Given the description of an element on the screen output the (x, y) to click on. 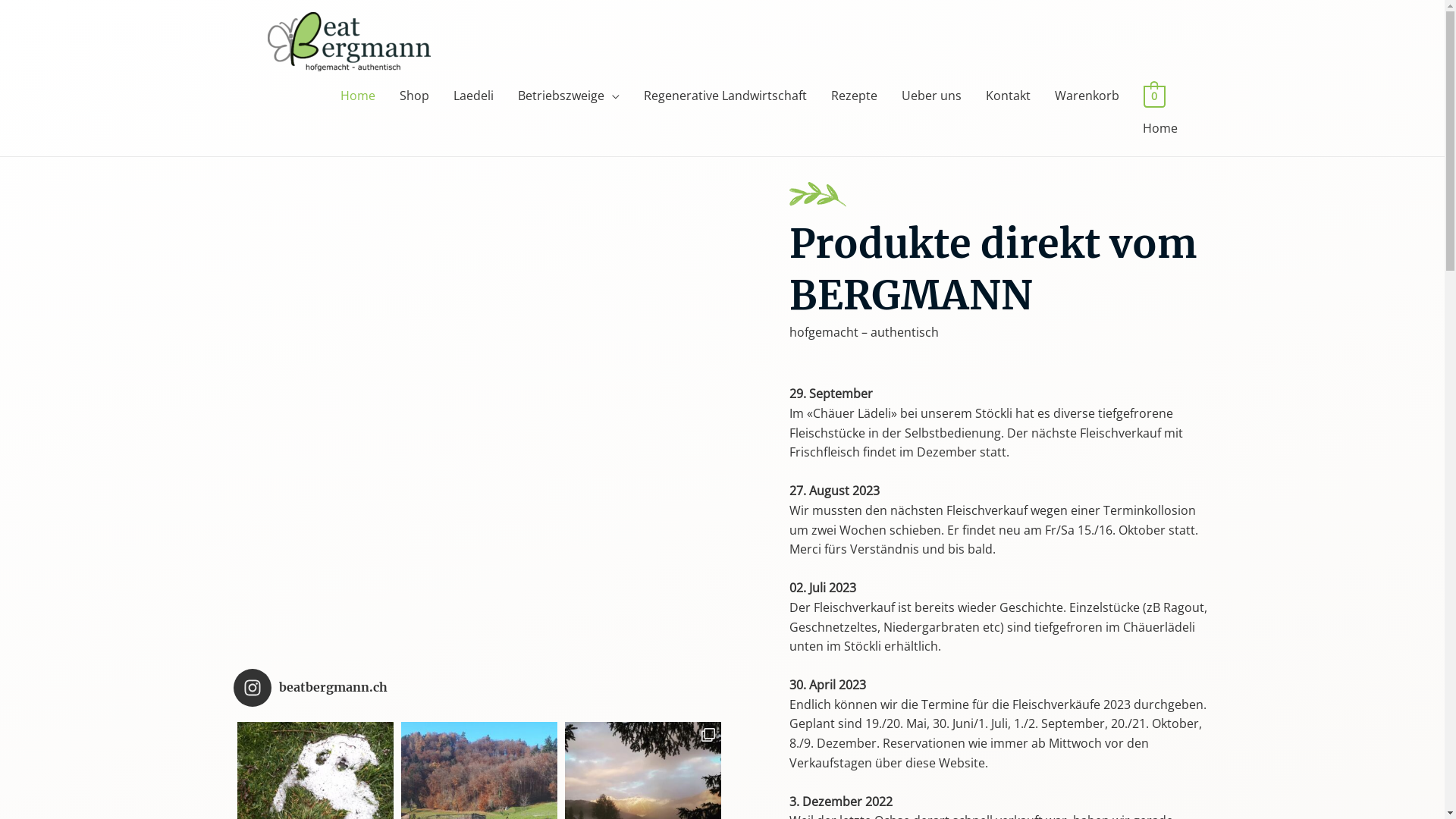
0 Element type: text (1154, 95)
Regenerative Landwirtschaft Element type: text (725, 95)
Laedeli Element type: text (473, 95)
Home Element type: text (357, 95)
Kontakt Element type: text (1007, 95)
beatbergmann.ch Element type: text (479, 687)
Ueber uns Element type: text (931, 95)
Warenkorb Element type: text (1086, 95)
Shop Element type: text (414, 95)
Betriebszweige Element type: text (568, 95)
Rezepte Element type: text (854, 95)
